Given the description of an element on the screen output the (x, y) to click on. 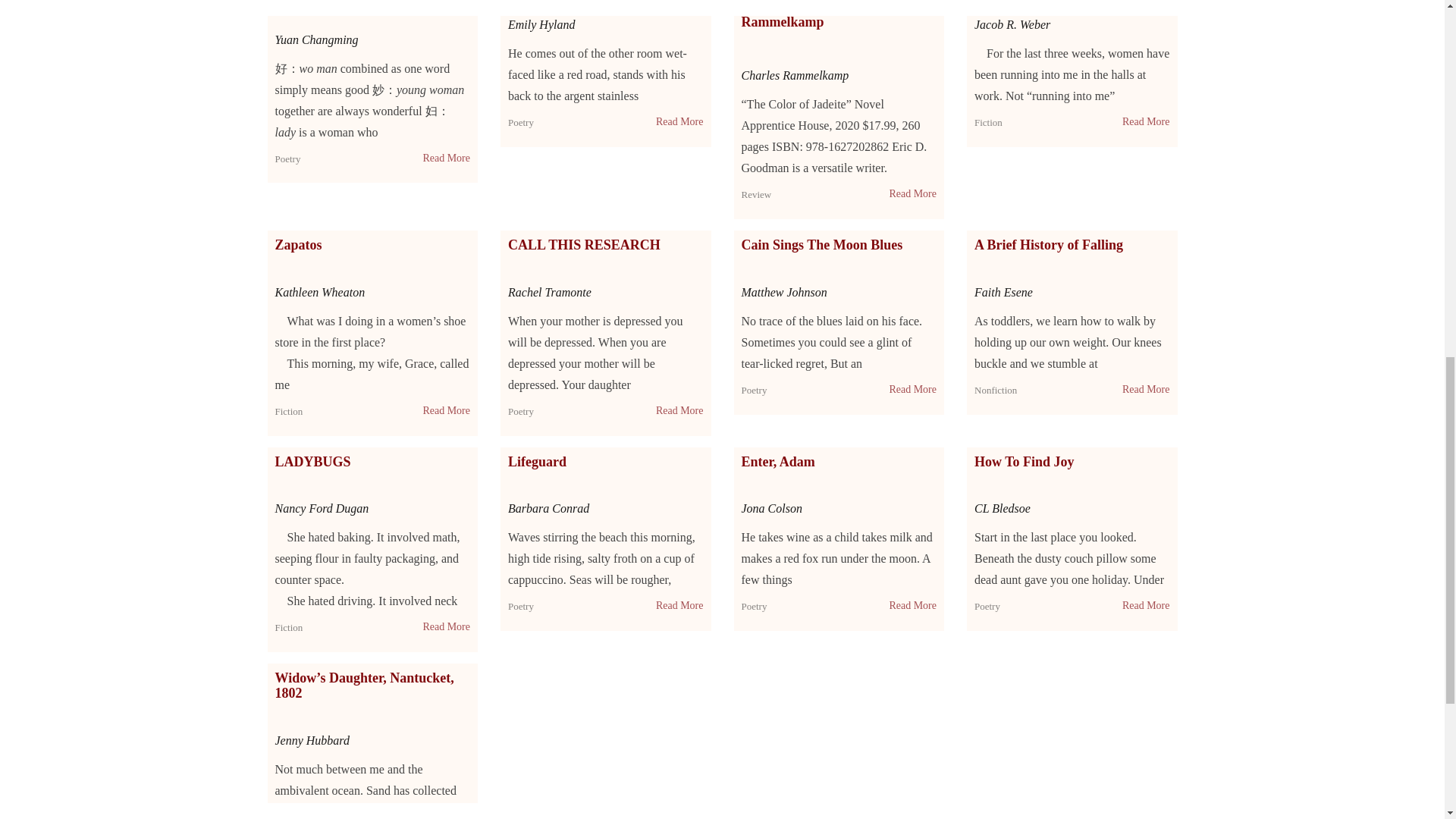
Poetry (287, 158)
Poetry (521, 122)
Read More (446, 158)
Fiction (988, 122)
Read More (679, 121)
Poetry (521, 122)
Review (756, 194)
Read More (912, 193)
Poetry (287, 158)
